Given the description of an element on the screen output the (x, y) to click on. 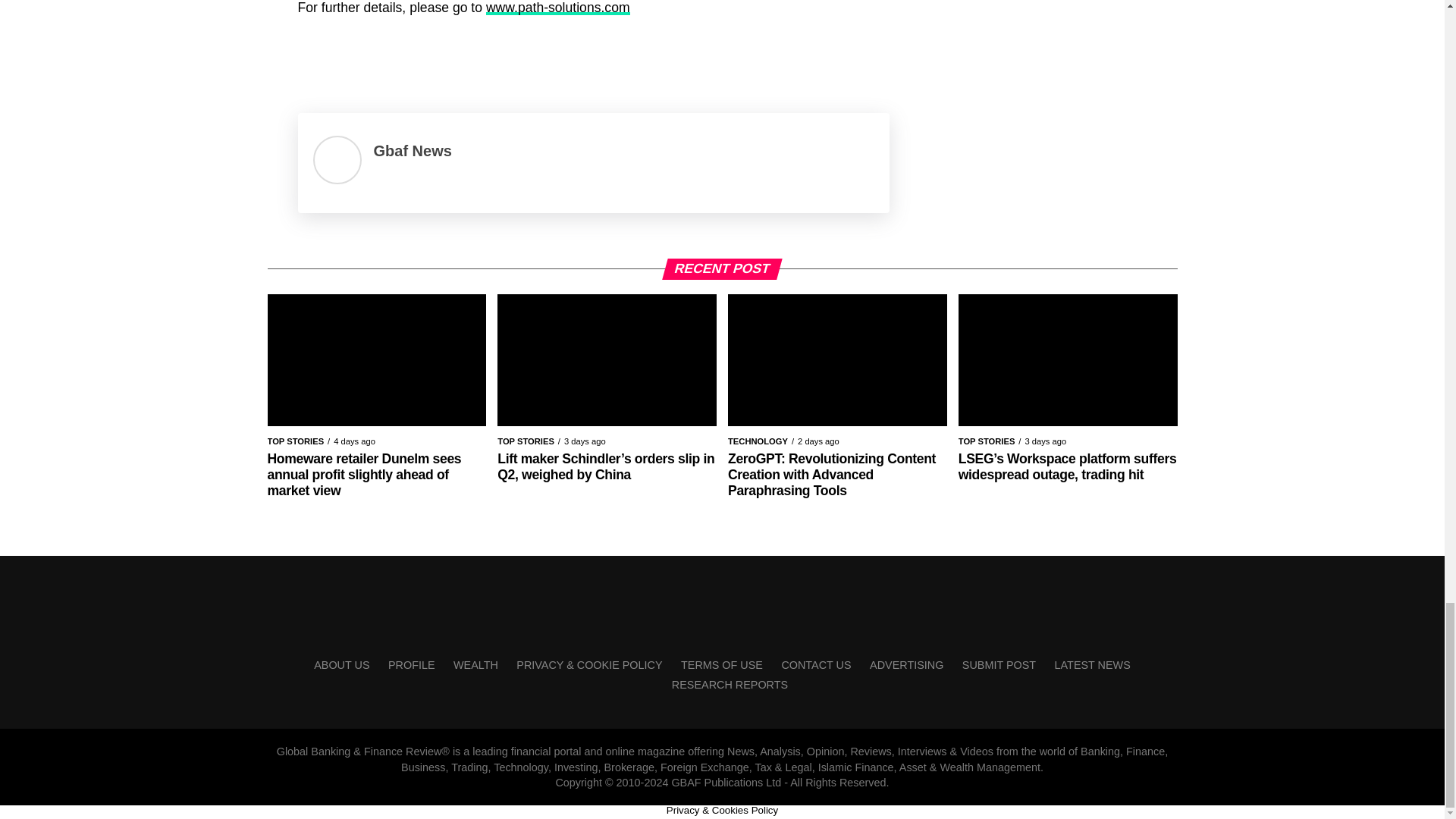
Share on Twitter (354, 55)
www.path-solutions.com (558, 7)
Share on Facebook (314, 55)
Gbaf News (411, 150)
Share on Linkedin (393, 55)
